Given the description of an element on the screen output the (x, y) to click on. 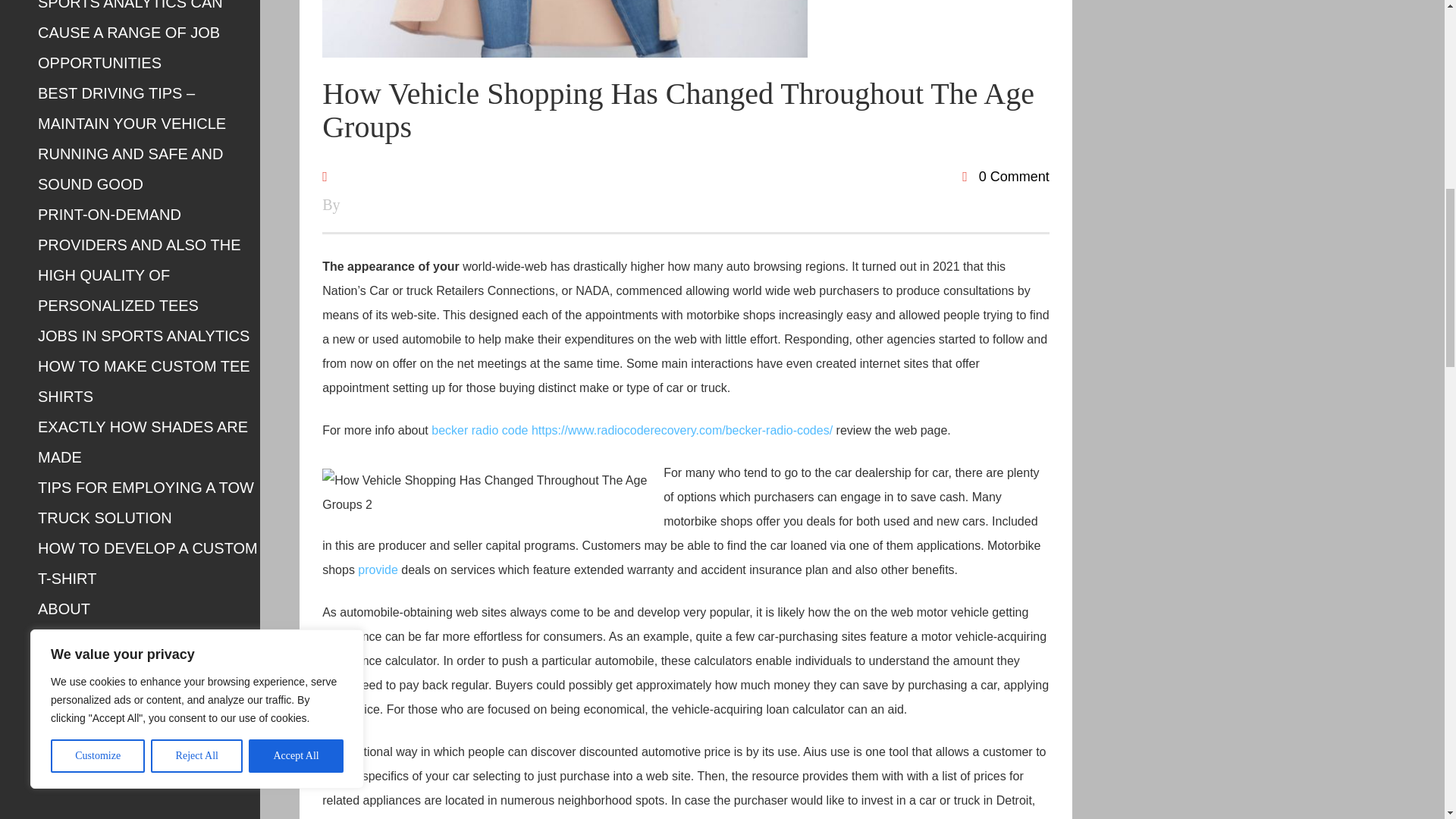
0 Comment (1005, 176)
provide (377, 569)
